Given the description of an element on the screen output the (x, y) to click on. 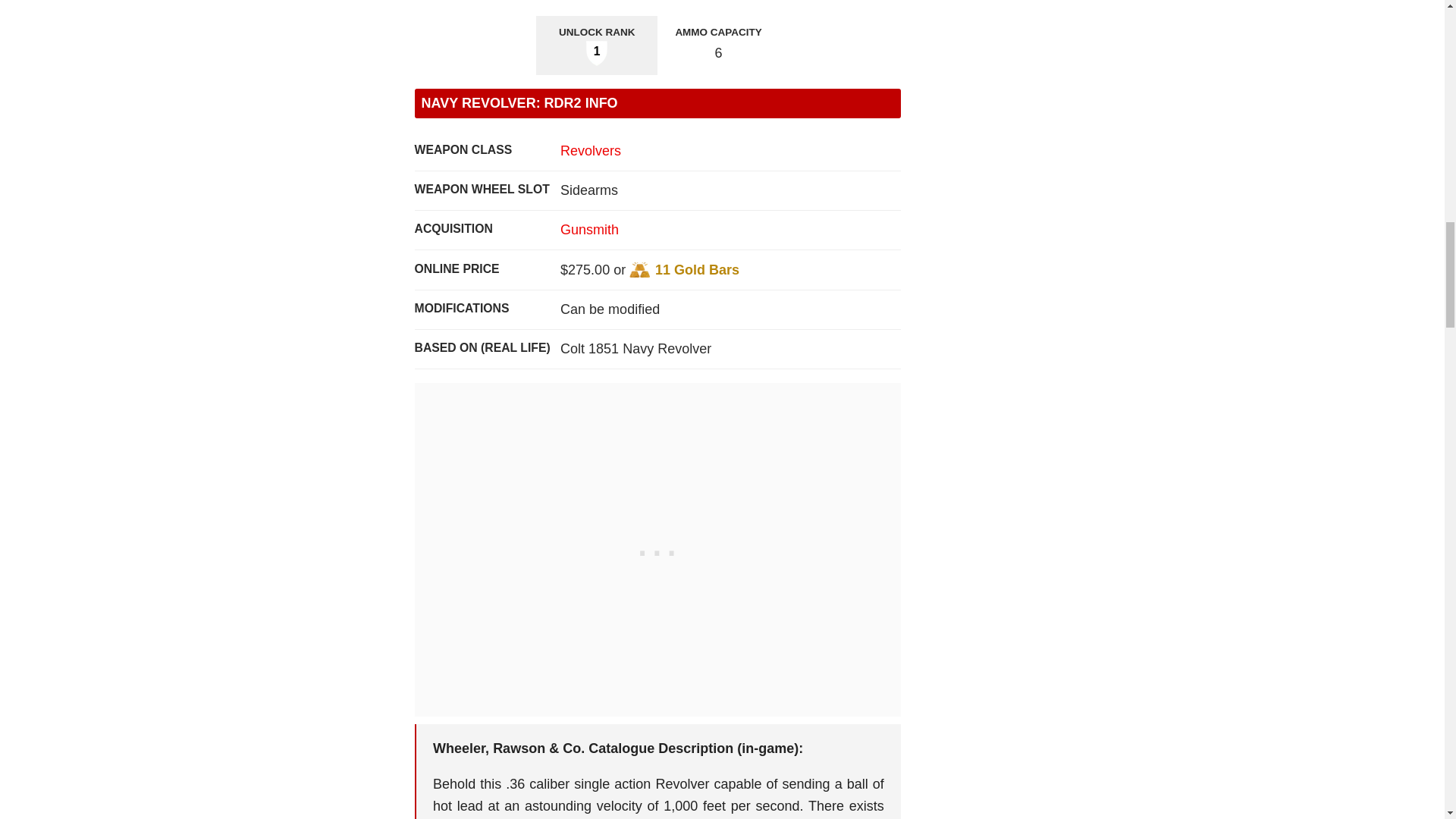
Weapon Class: Revolvers (590, 150)
Acquisition: Gunsmith (589, 229)
